Given the description of an element on the screen output the (x, y) to click on. 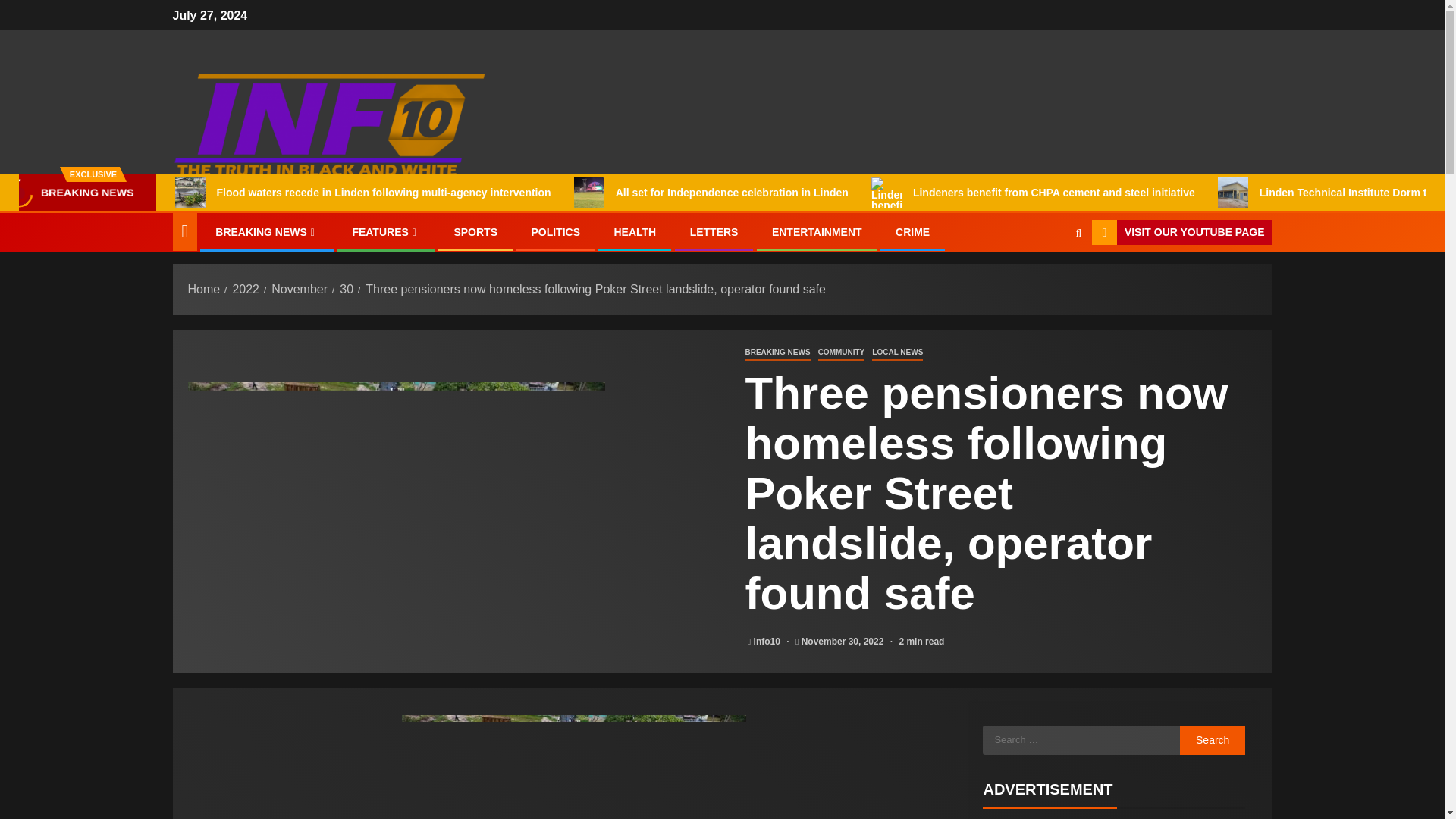
2022 (245, 288)
BREAKING NEWS (266, 232)
30 (346, 288)
Home (204, 288)
Info10 (768, 641)
HEALTH (634, 232)
COMMUNITY (841, 352)
Lindeners benefit from CHPA cement and steel initiative (1033, 192)
Search (1212, 739)
FEATURES (386, 232)
POLITICS (555, 232)
SPORTS (474, 232)
BREAKING NEWS (776, 352)
Search (1049, 277)
